Given the description of an element on the screen output the (x, y) to click on. 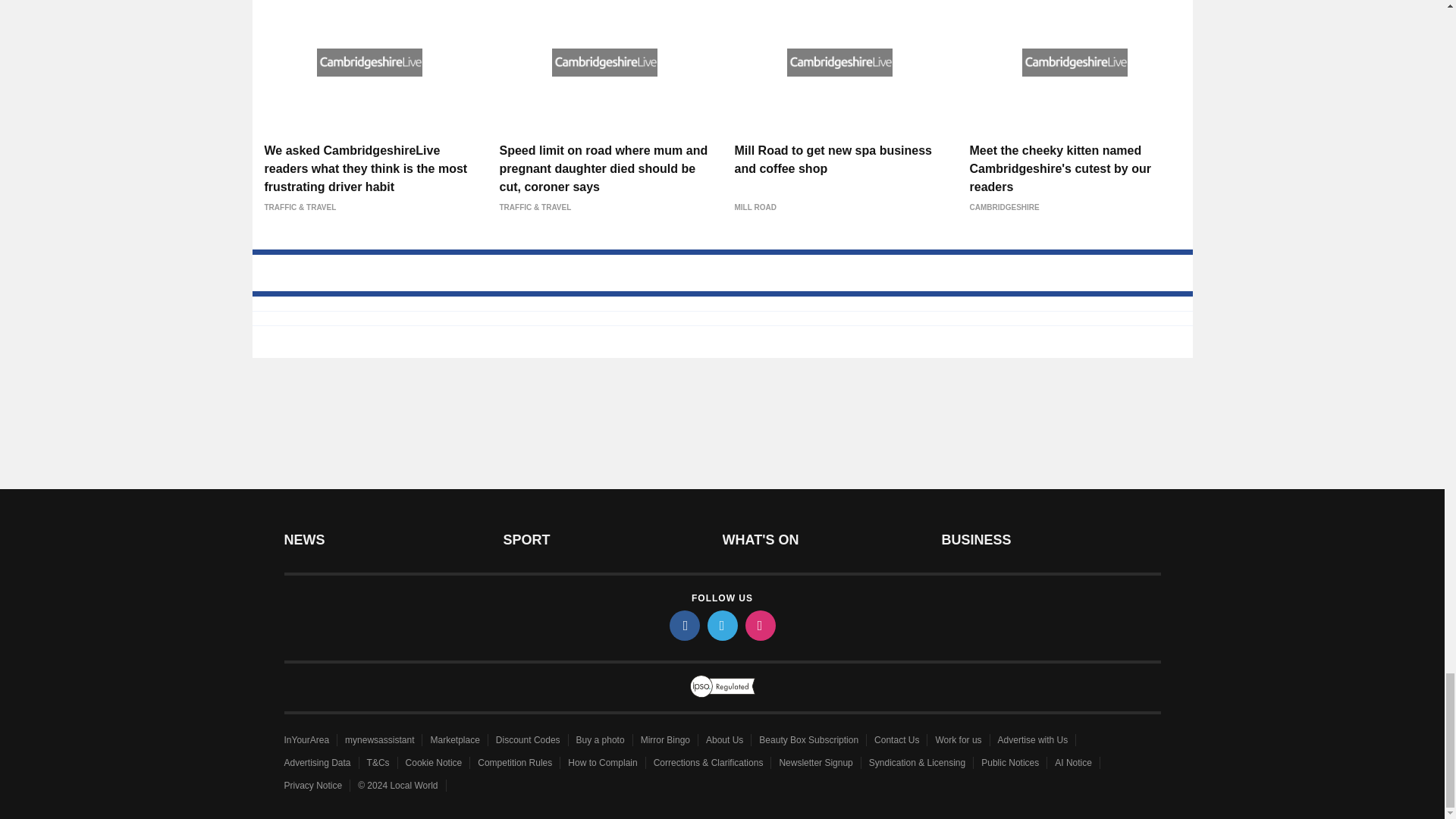
facebook (683, 625)
instagram (759, 625)
twitter (721, 625)
